Given the description of an element on the screen output the (x, y) to click on. 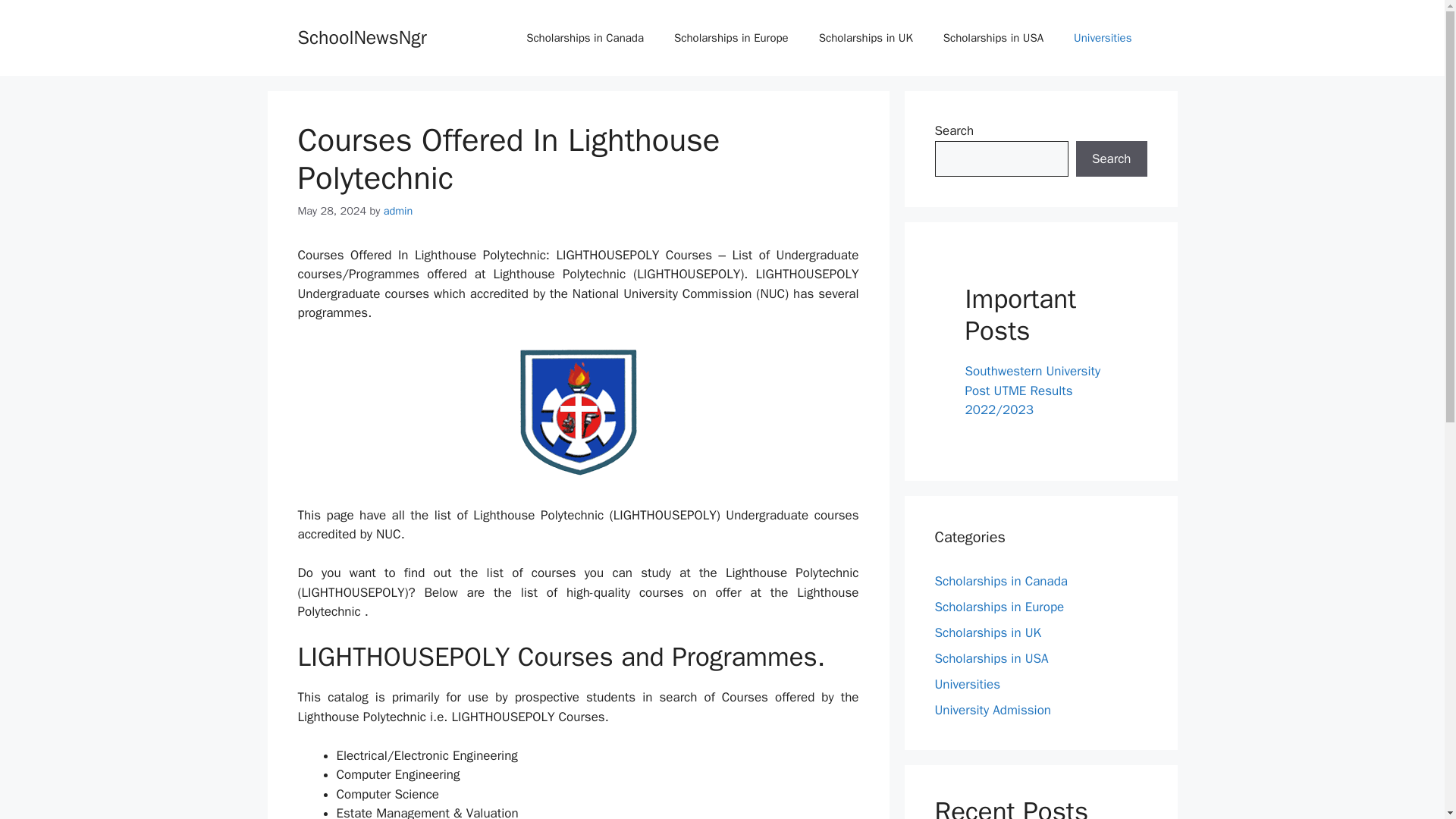
Scholarships in Europe (999, 606)
Universities (967, 684)
Scholarships in UK (865, 37)
University Admission (991, 709)
Scholarships in Canada (1000, 580)
Scholarships in USA (991, 658)
View all posts by admin (398, 210)
Universities (1102, 37)
Search (1111, 158)
Scholarships in USA (993, 37)
SchoolNewsNgr (361, 37)
Scholarships in Europe (731, 37)
admin (398, 210)
Scholarships in UK (987, 632)
Scholarships in Canada (585, 37)
